Given the description of an element on the screen output the (x, y) to click on. 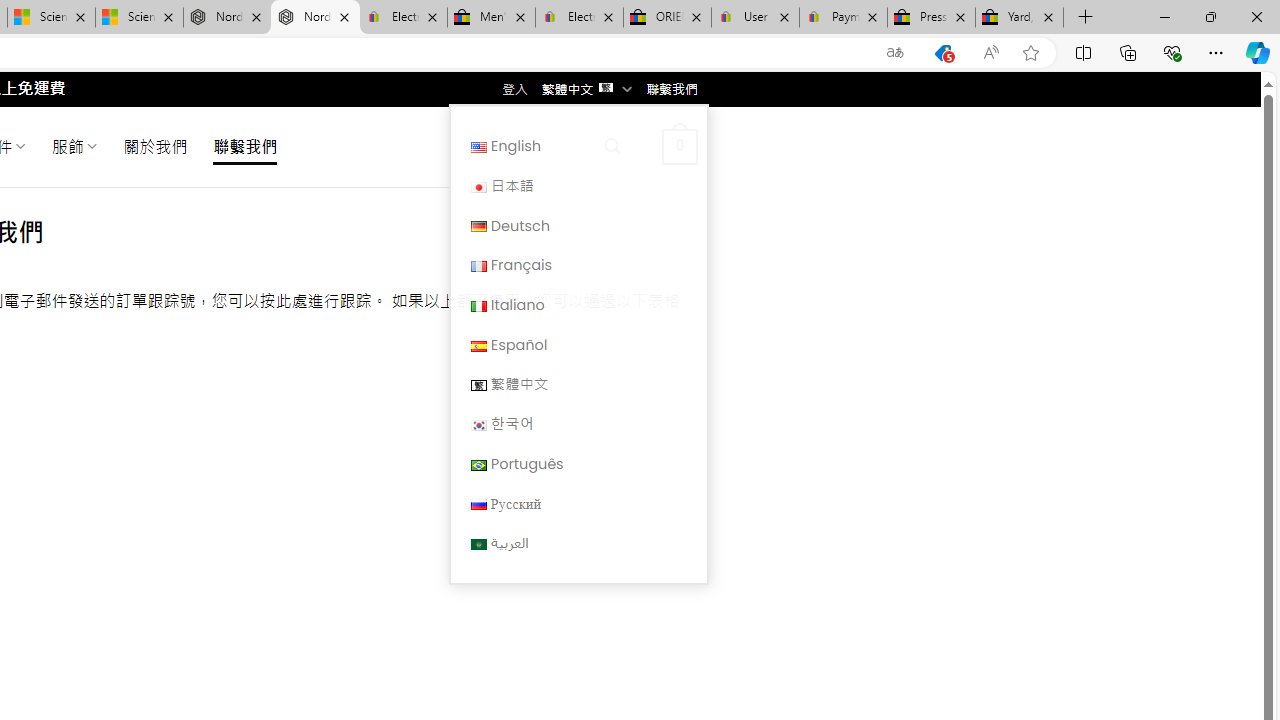
Italiano (478, 305)
This site has coupons! Shopping in Microsoft Edge, 5 (943, 53)
  0   (679, 146)
English English (578, 145)
